Given the description of an element on the screen output the (x, y) to click on. 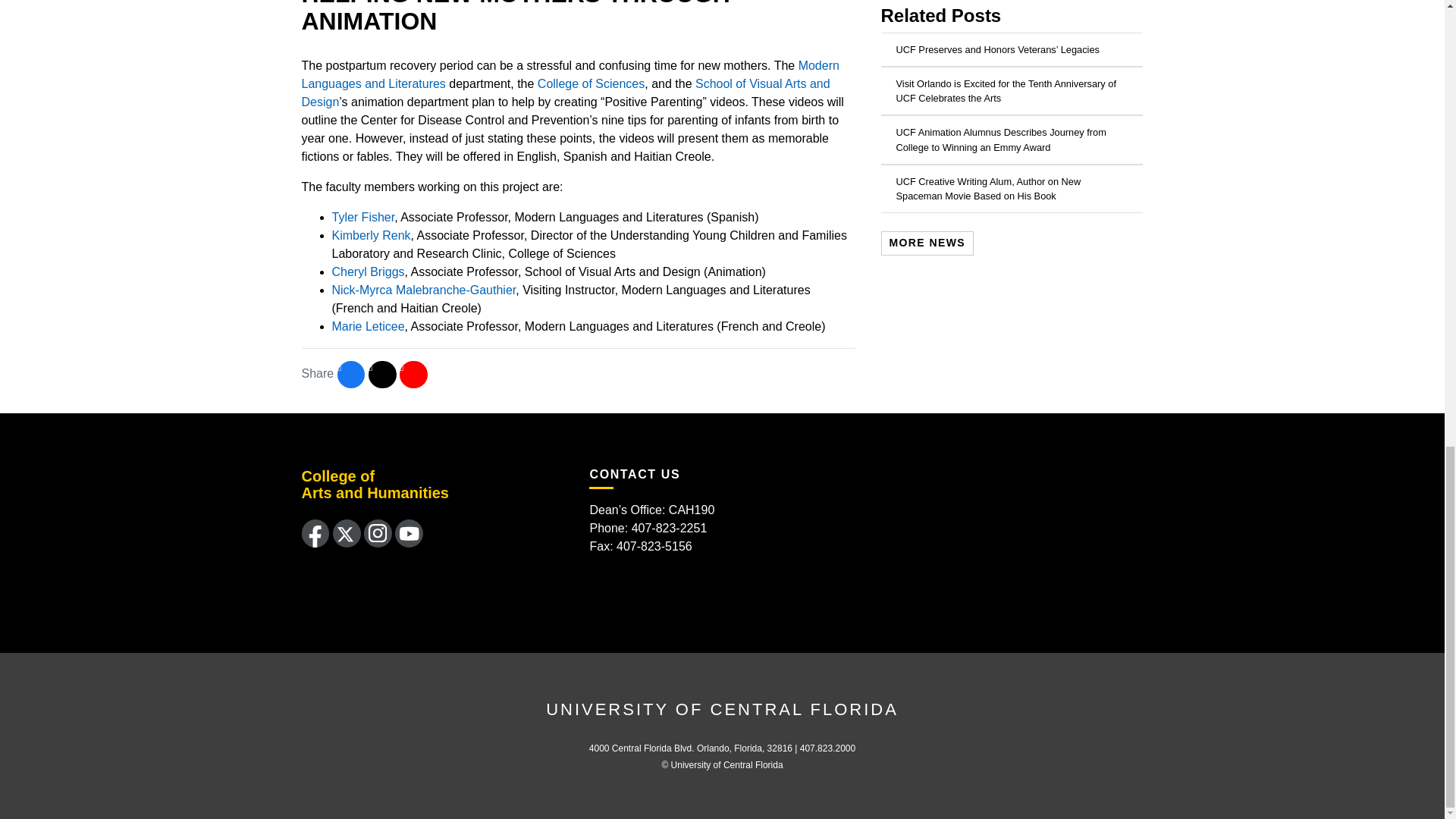
Share this post by email (413, 375)
Share this post on Twitter (382, 375)
Share this post on Facebook (351, 375)
